Given the description of an element on the screen output the (x, y) to click on. 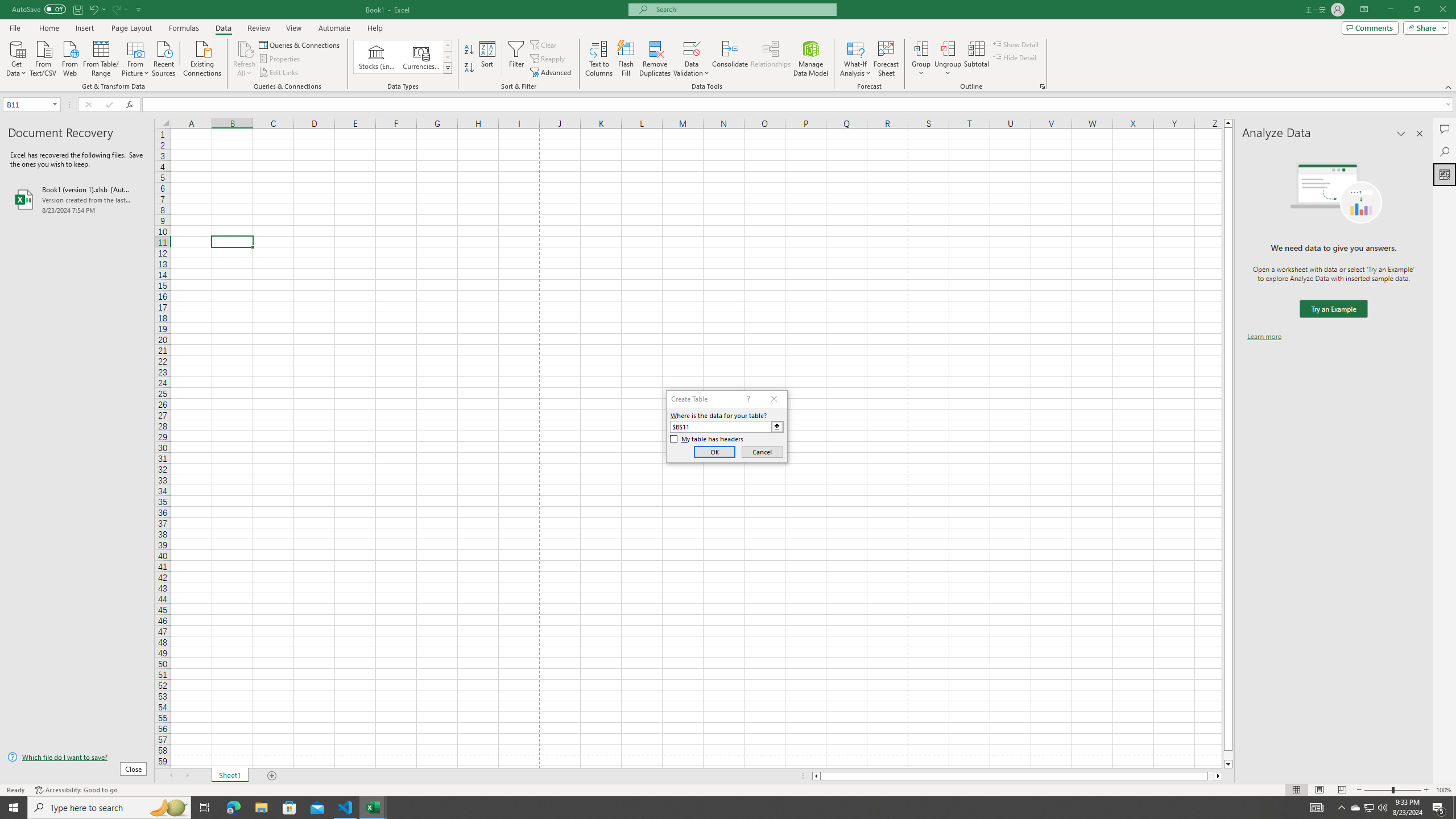
Task Pane Options (1400, 133)
Close pane (1419, 133)
From Web (69, 57)
Sort Z to A (469, 67)
Learn more (1264, 336)
Microsoft search (742, 9)
